Given the description of an element on the screen output the (x, y) to click on. 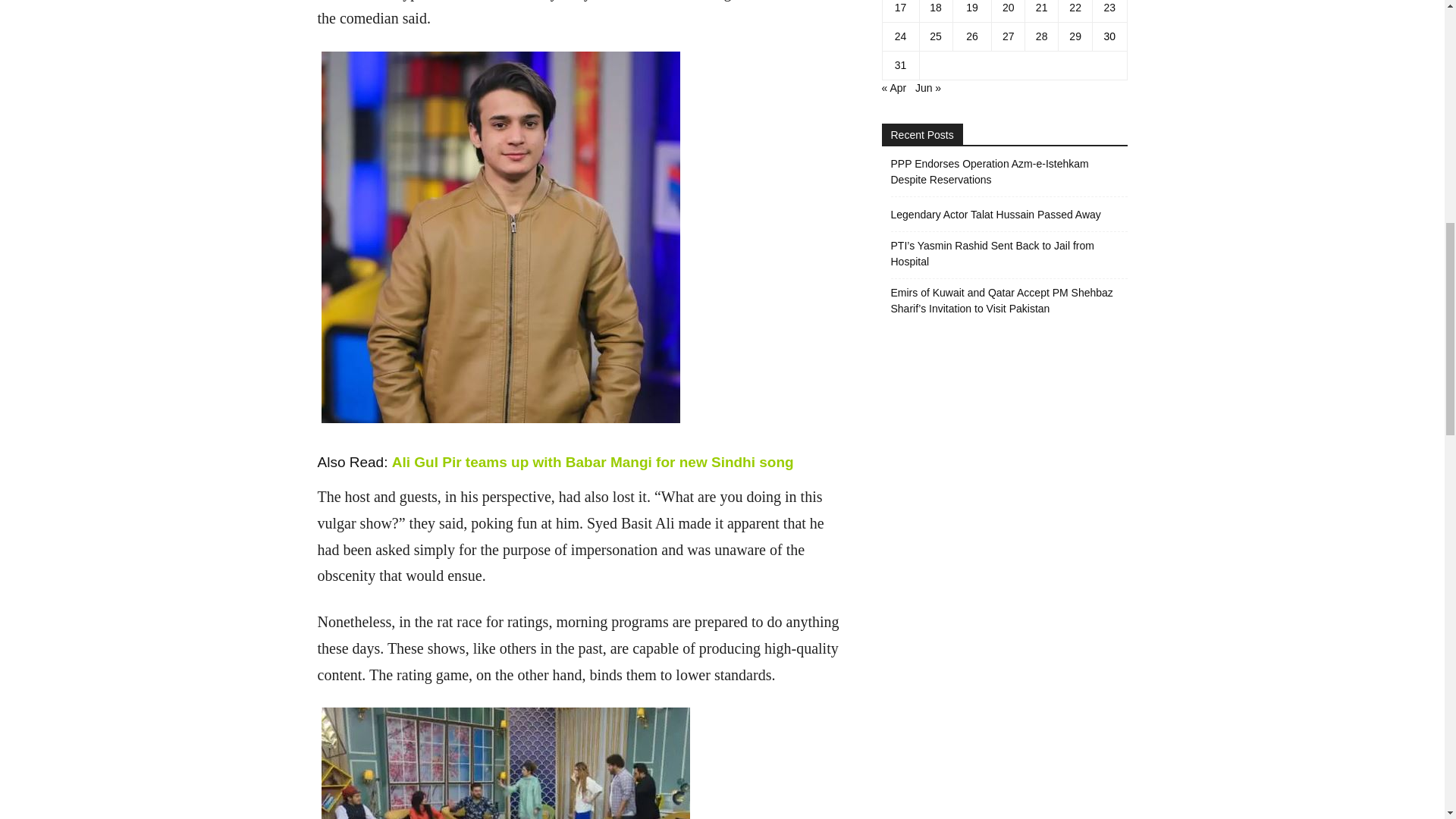
Ali Gul Pir teams up with Babar Mangi for new Sindhi song (592, 462)
